Given the description of an element on the screen output the (x, y) to click on. 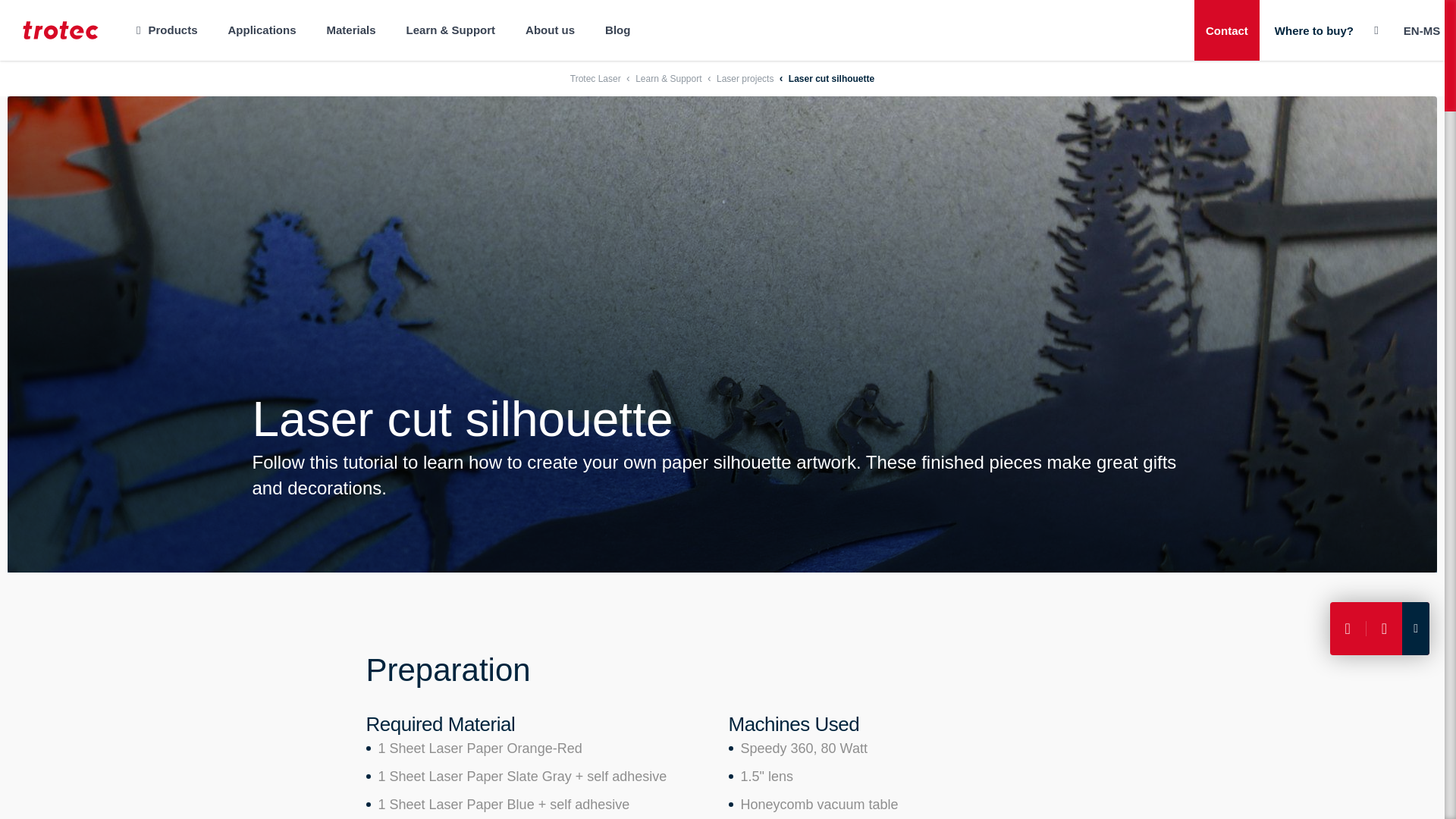
Materials (351, 30)
TROTEC Laser GmbH (61, 30)
Applications (261, 30)
